Given the description of an element on the screen output the (x, y) to click on. 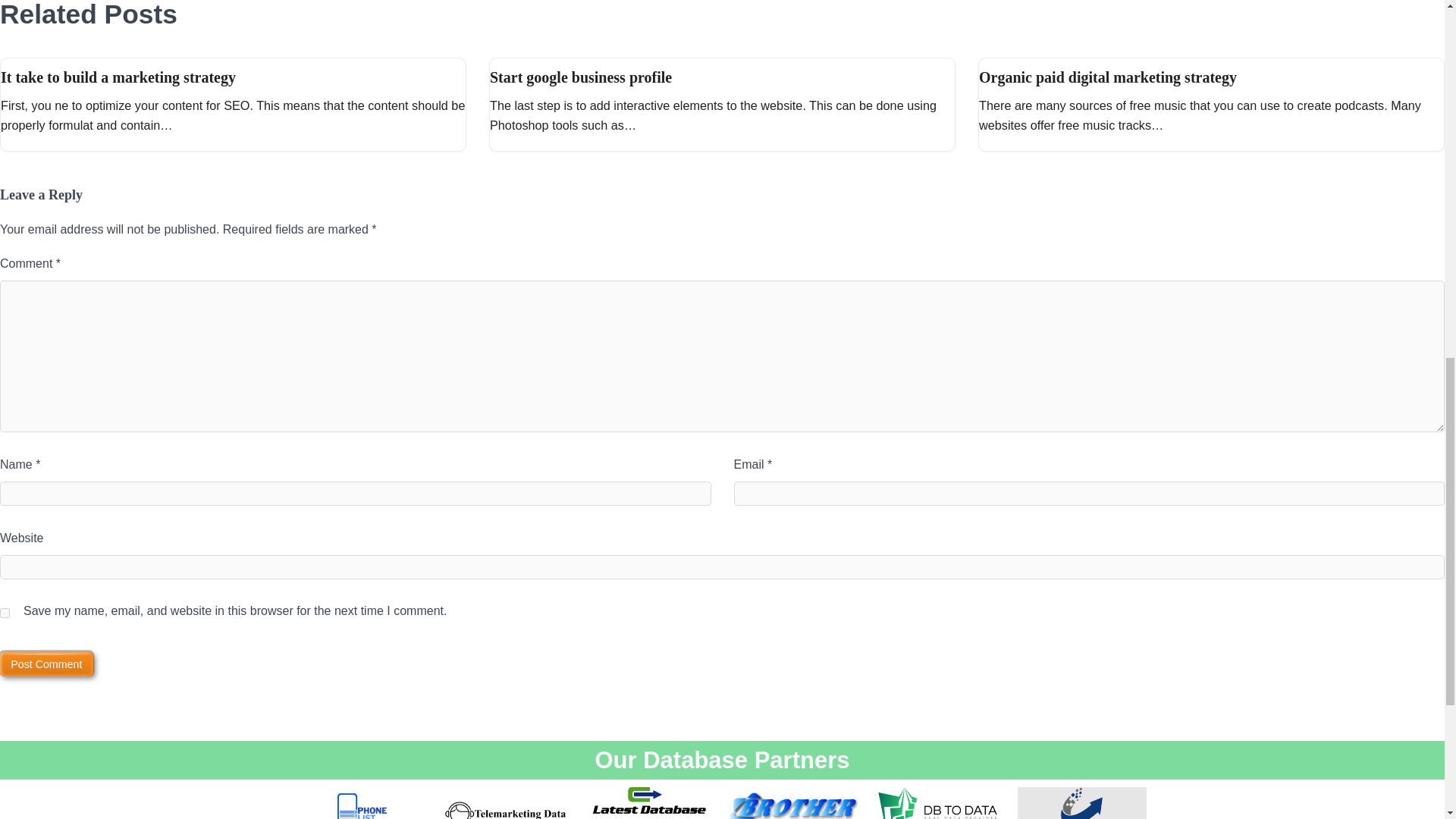
Organic paid digital marketing strategy (1107, 76)
Telemarketing Data (505, 803)
It take to build a marketing strategy (118, 76)
yes (5, 613)
Last Database (1082, 803)
B Cell Phone List (794, 803)
DB To Data (938, 803)
Latest Mailing Database (649, 803)
Post Comment (46, 663)
Phone List (361, 803)
Start google business profile (580, 76)
